Given the description of an element on the screen output the (x, y) to click on. 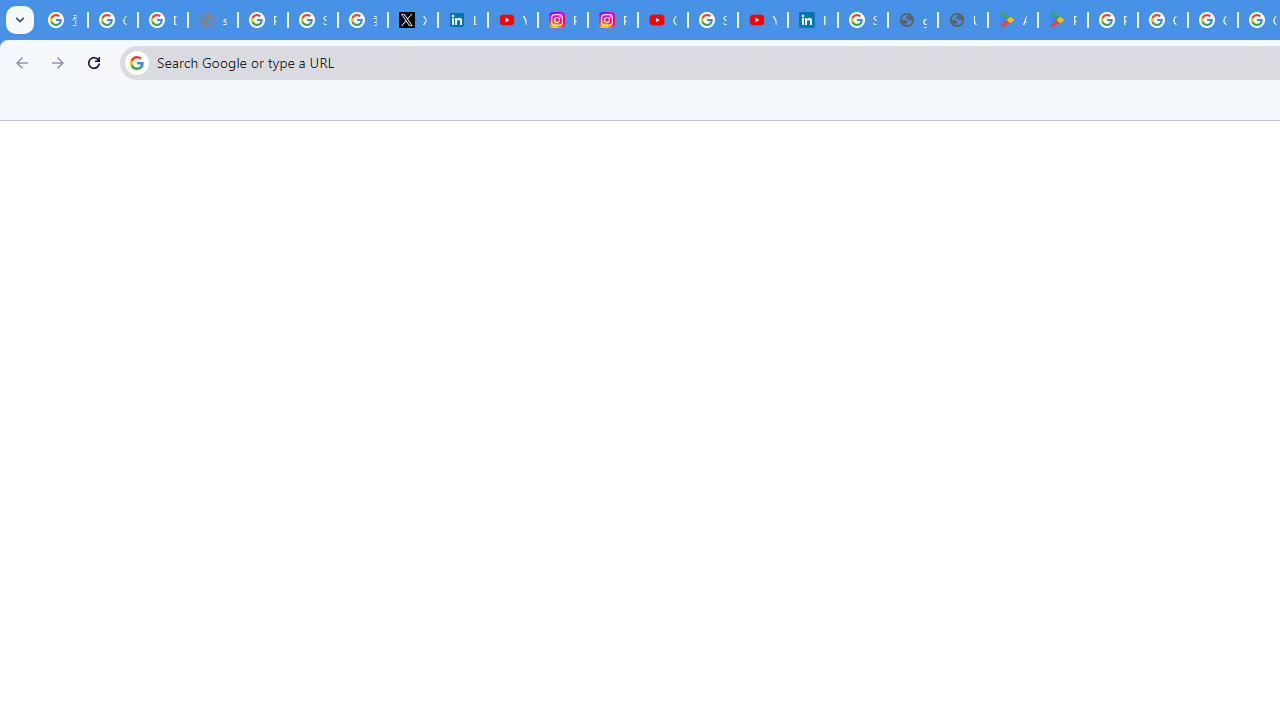
Android Apps on Google Play (1013, 20)
Privacy Help Center - Policies Help (262, 20)
LinkedIn Privacy Policy (462, 20)
YouTube Content Monetization Policies - How YouTube Works (512, 20)
